Given the description of an element on the screen output the (x, y) to click on. 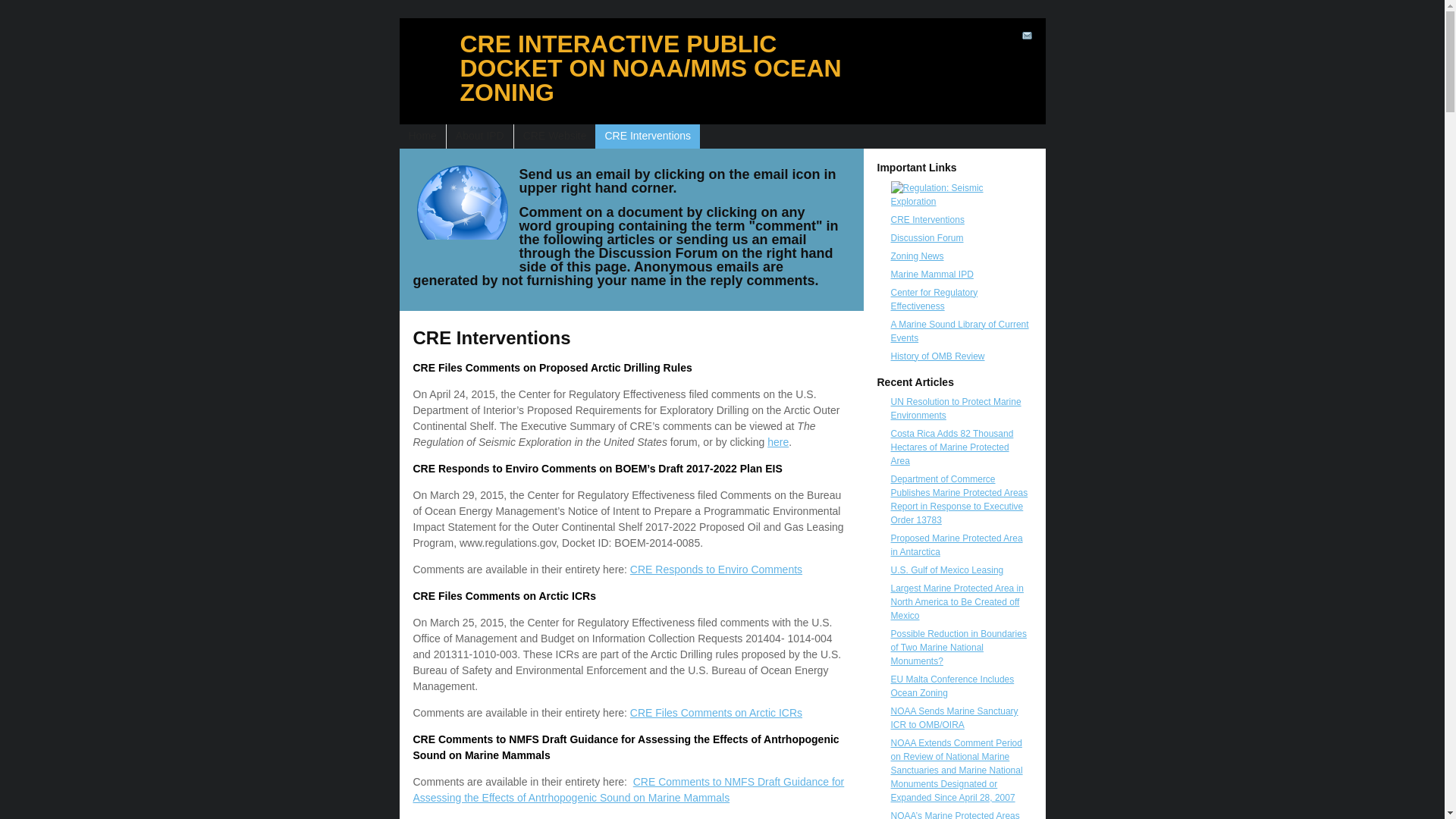
About IPD (479, 135)
Home (421, 135)
CRE Responds to Enviro Comments (716, 568)
A link to home page (421, 135)
CRE Interventions (647, 135)
here (778, 440)
CRE Website (554, 135)
CRE Files Comments on Arctic ICRs (716, 712)
